Given the description of an element on the screen output the (x, y) to click on. 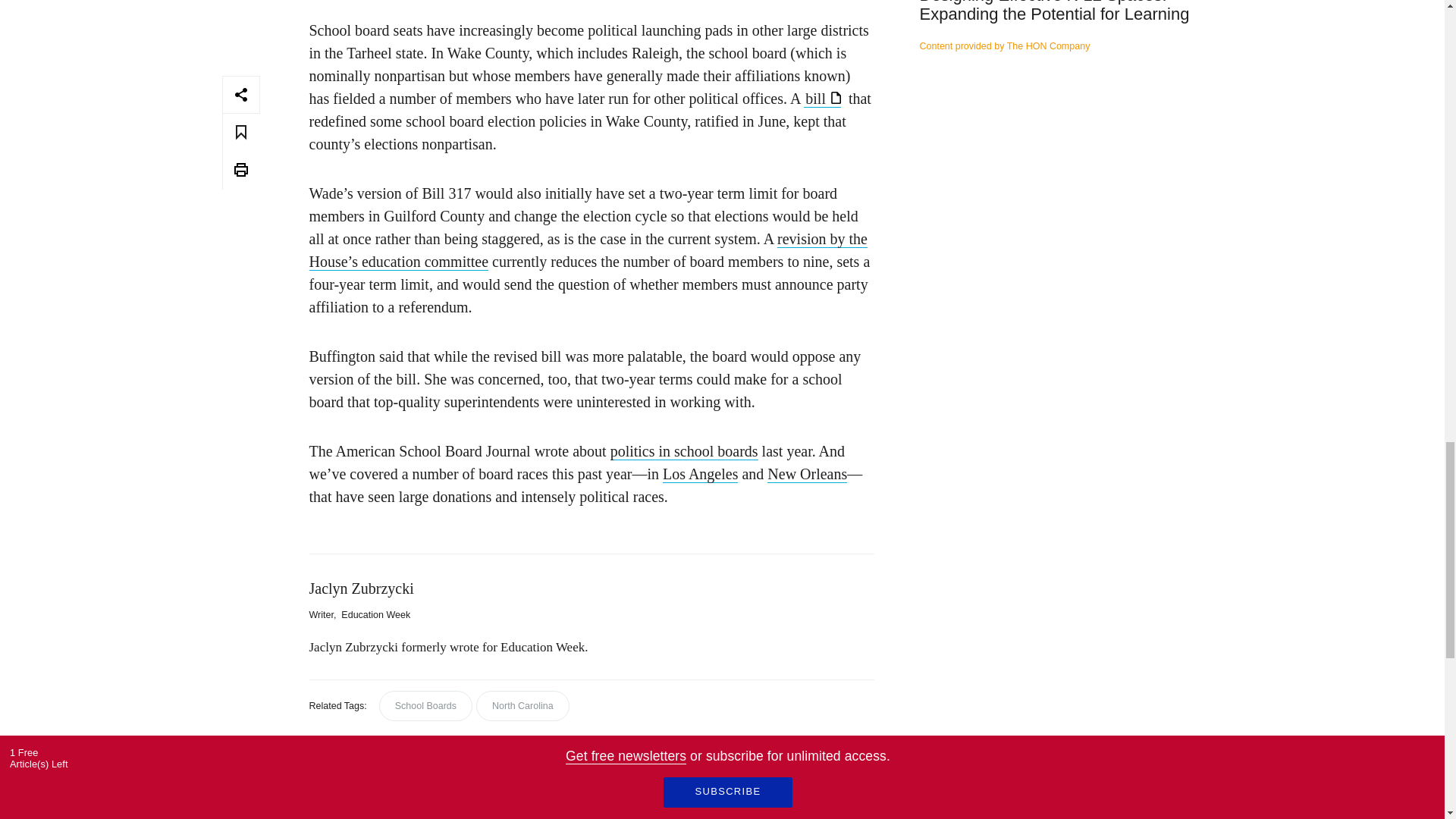
3rd party ad content (1070, 207)
